Given the description of an element on the screen output the (x, y) to click on. 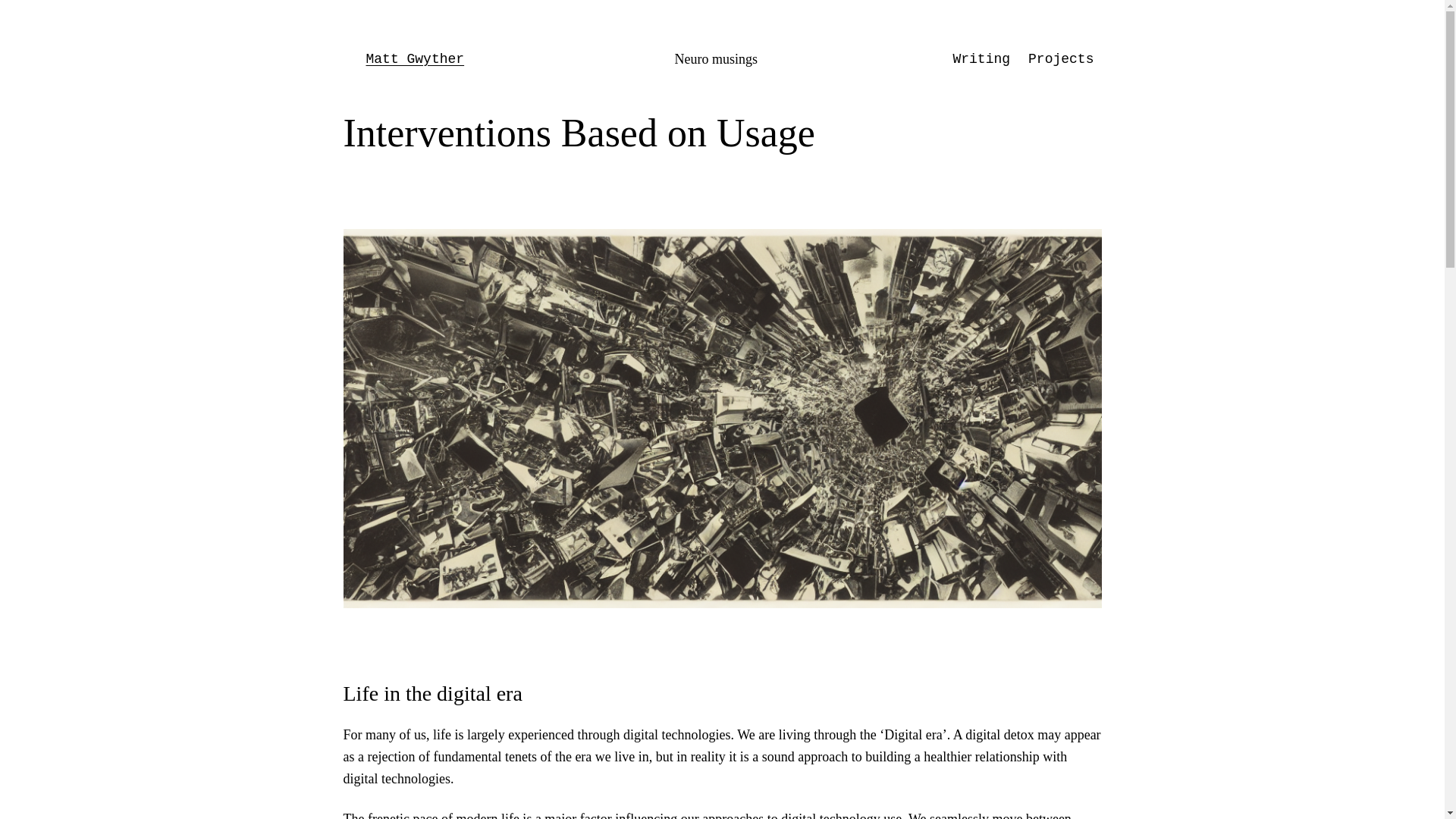
Matt Gwyther (414, 58)
Projects (1060, 59)
Writing (981, 59)
